Given the description of an element on the screen output the (x, y) to click on. 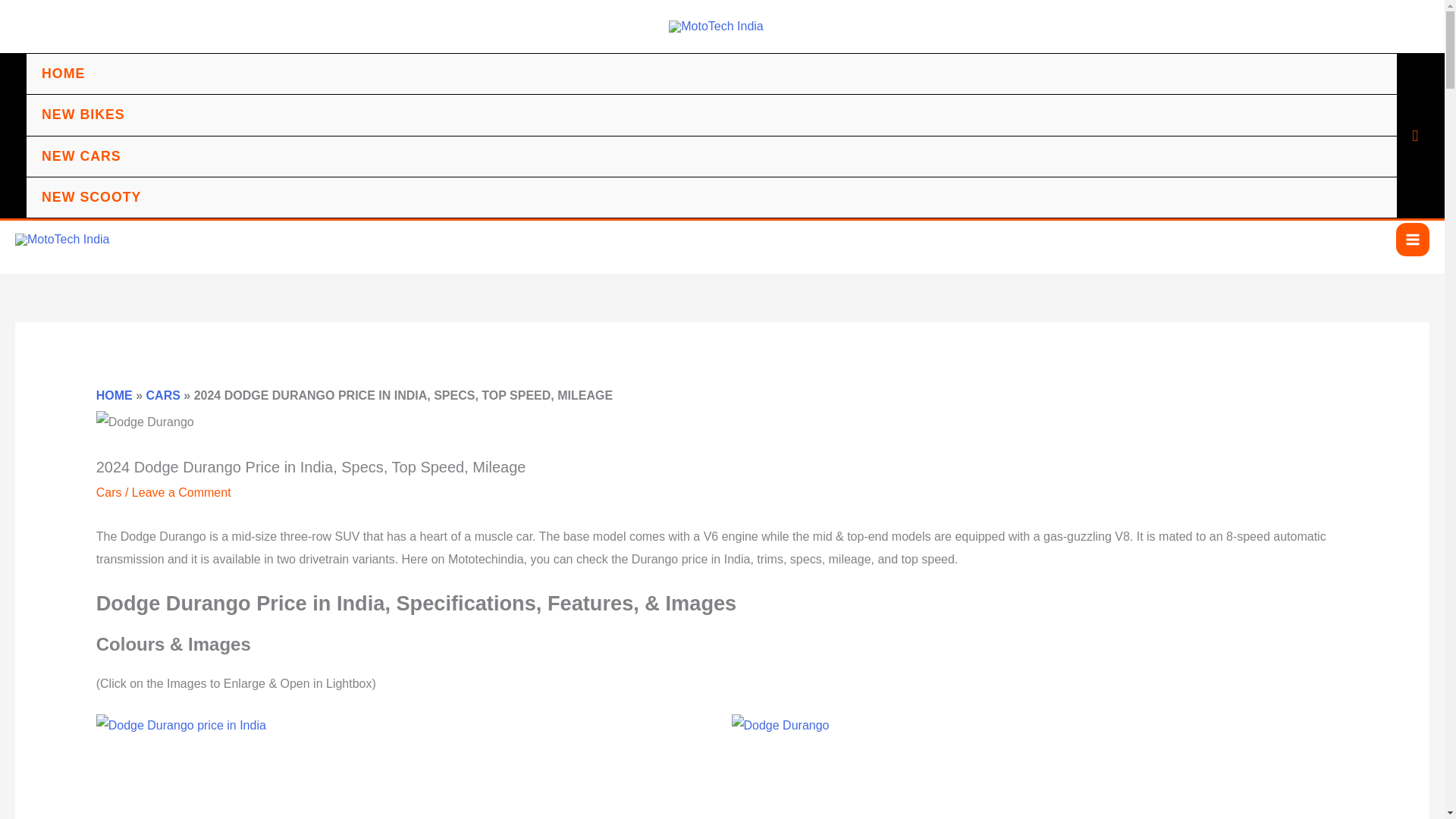
HOME (711, 74)
NEW CARS (711, 156)
Menu Toggle (1369, 137)
Menu Toggle (1369, 95)
Main Menu (1412, 239)
NEW SCOOTY (711, 197)
NEW BIKES (711, 115)
Menu Toggle (1369, 178)
